Given the description of an element on the screen output the (x, y) to click on. 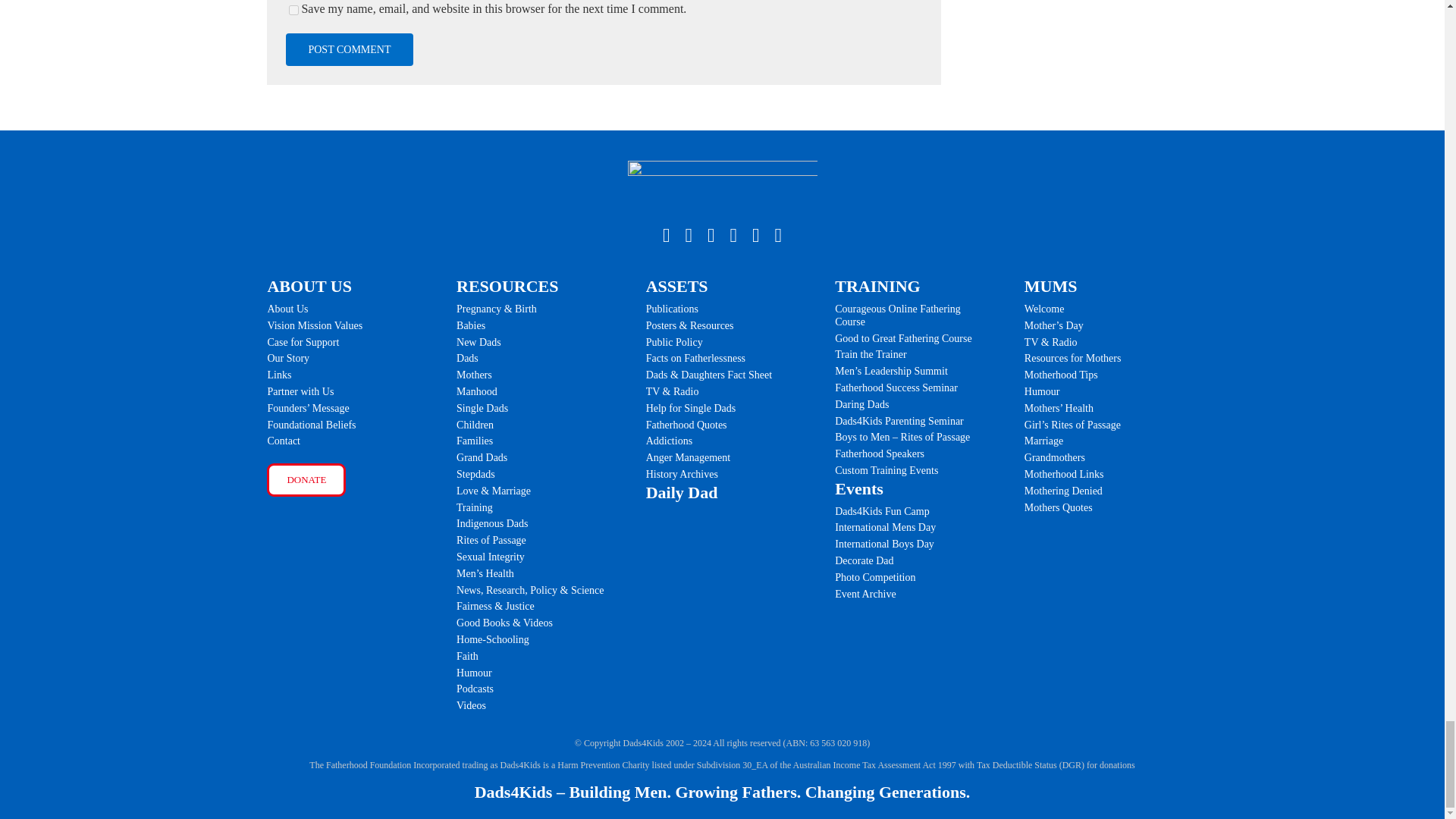
d4k-logo-clear-42x-WHITE (721, 185)
yes (293, 9)
Post Comment (348, 49)
